Given the description of an element on the screen output the (x, y) to click on. 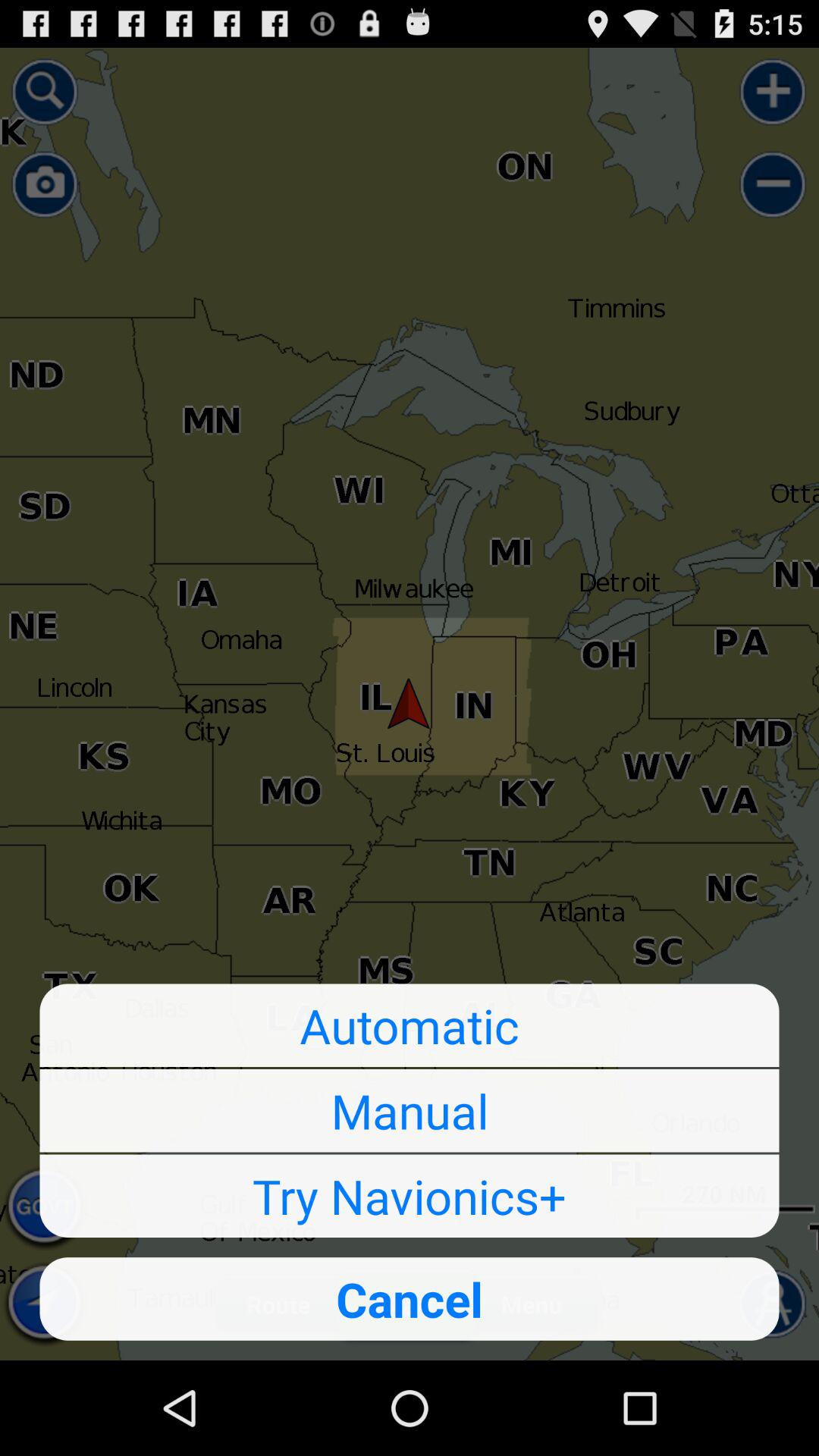
launch button below manual (409, 1195)
